Given the description of an element on the screen output the (x, y) to click on. 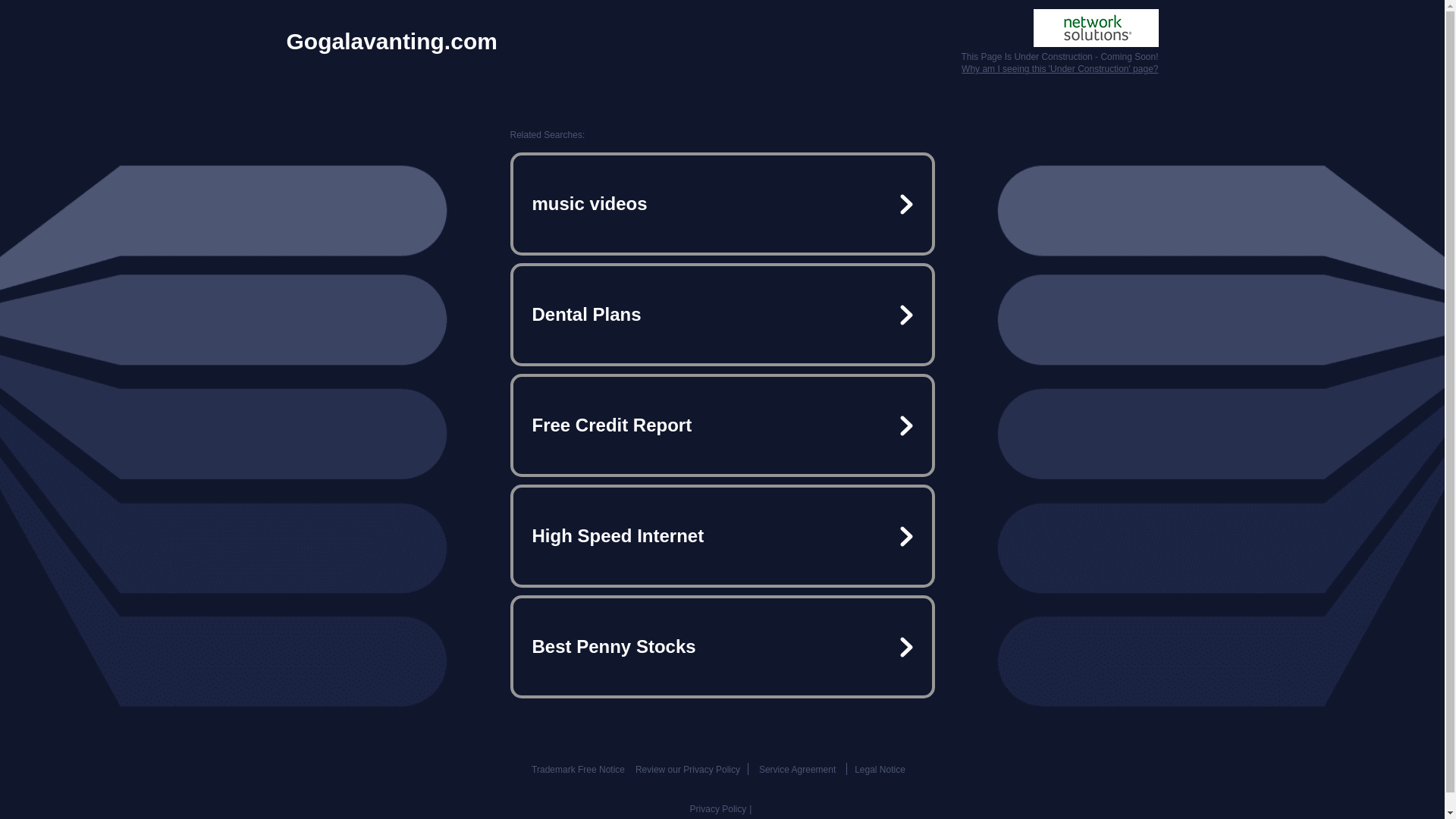
Dental Plans (721, 314)
Service Agreement (796, 769)
High Speed Internet (721, 535)
Privacy Policy (718, 808)
High Speed Internet (721, 535)
music videos (721, 203)
Free Credit Report (721, 425)
music videos (721, 203)
Dental Plans (721, 314)
Best Penny Stocks (721, 646)
